Given the description of an element on the screen output the (x, y) to click on. 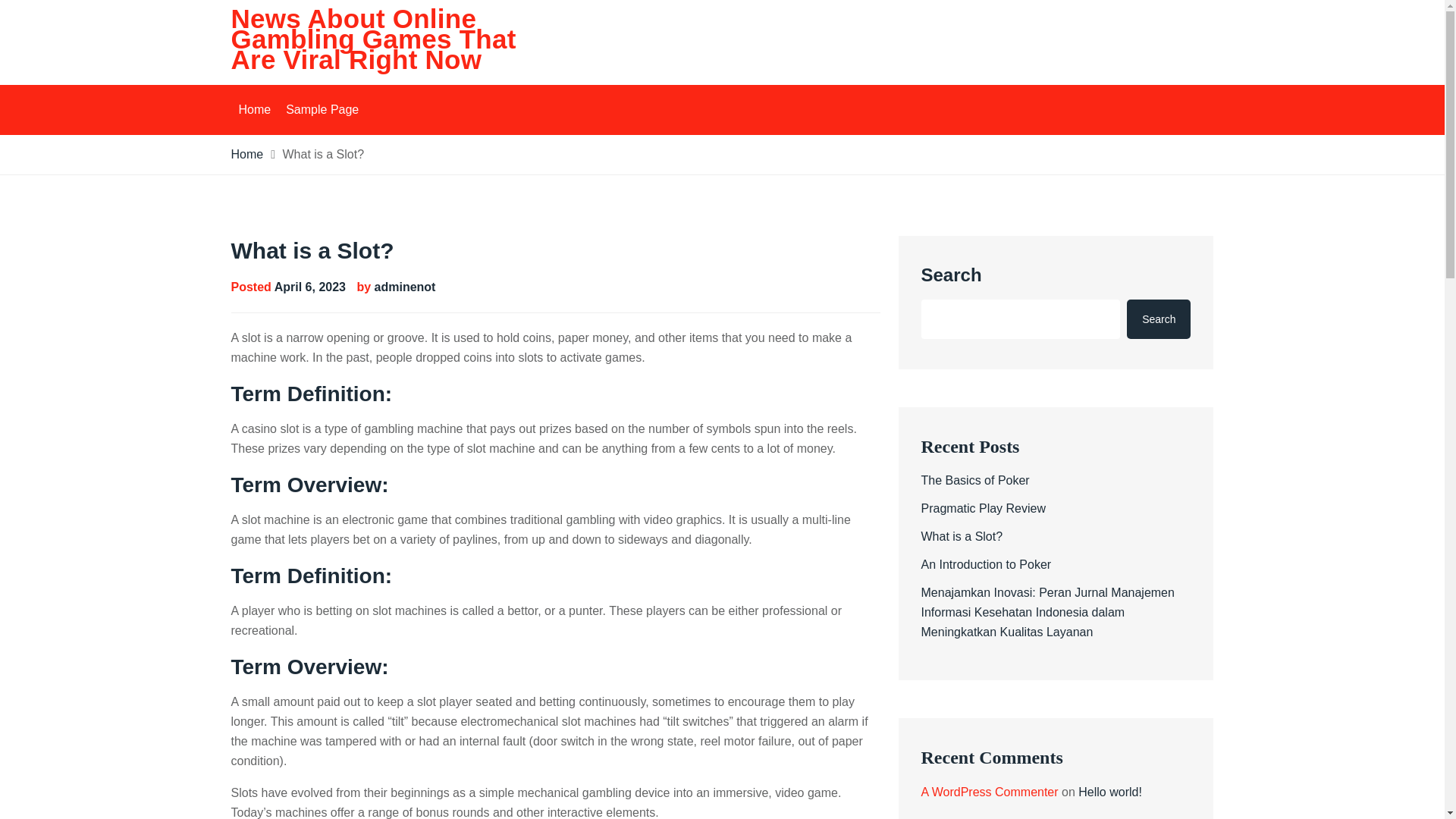
Hello world! (1109, 791)
Home (246, 154)
Home (254, 110)
Search (1158, 319)
Pragmatic Play Review (982, 508)
A WordPress Commenter (989, 791)
The Basics of Poker (974, 480)
adminenot (404, 286)
April 6, 2023 (310, 286)
News About Online Gambling Games That Are Viral Right Now (372, 39)
An Introduction to Poker (985, 563)
What is a Slot? (961, 535)
Sample Page (322, 110)
